Given the description of an element on the screen output the (x, y) to click on. 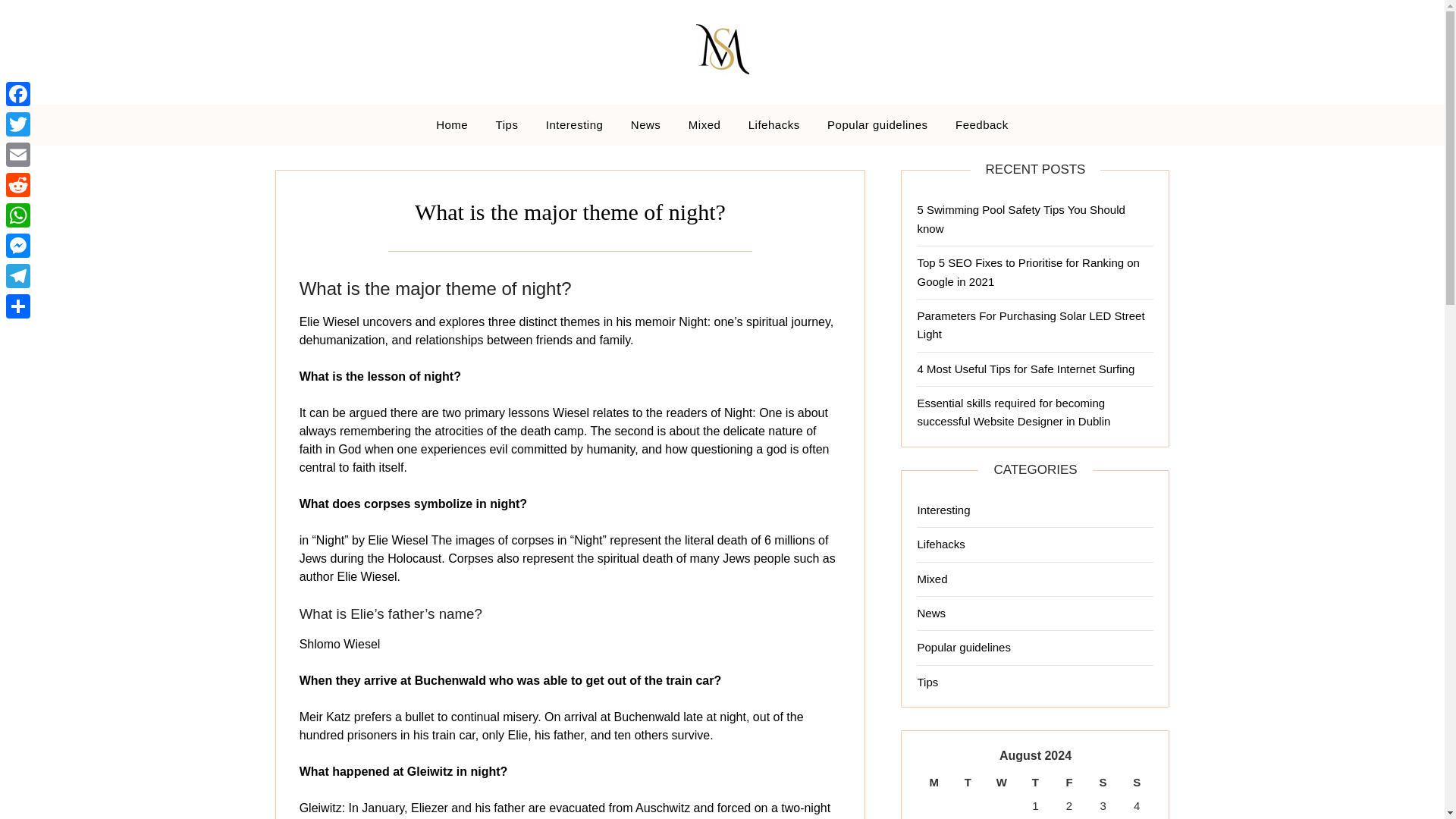
Tuesday (967, 782)
Lifehacks (774, 124)
Sunday (1136, 782)
Facebook (17, 93)
Parameters For Purchasing Solar LED Street Light (1030, 324)
Twitter (17, 123)
Top 5 SEO Fixes to Prioritise for Ranking on Google in 2021 (1027, 271)
WhatsApp (17, 214)
Messenger (17, 245)
News (645, 124)
Interesting (943, 509)
Popular guidelines (877, 124)
Thursday (1034, 782)
Monday (933, 782)
